Given the description of an element on the screen output the (x, y) to click on. 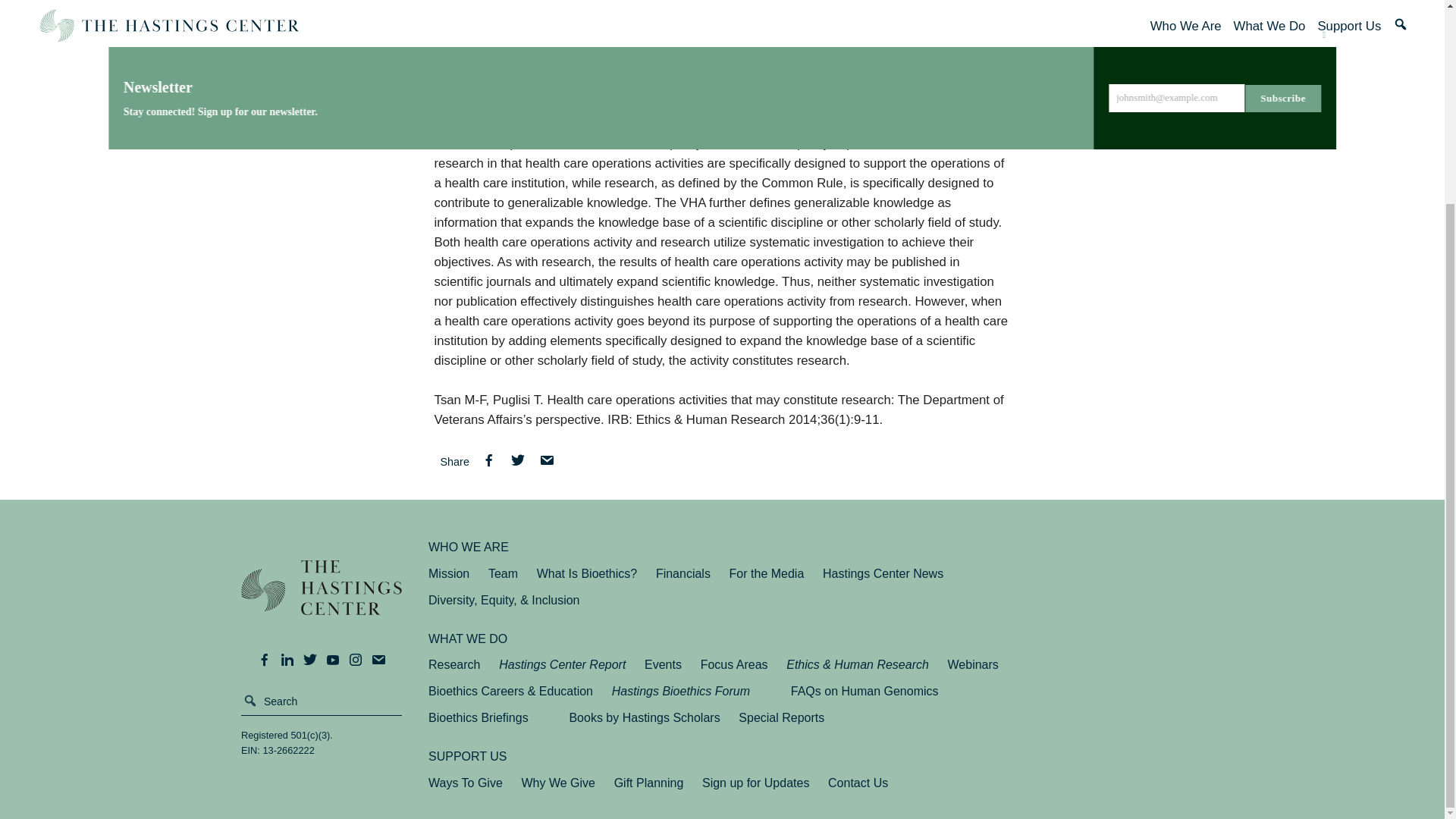
The Hastings Center (321, 598)
